Given the description of an element on the screen output the (x, y) to click on. 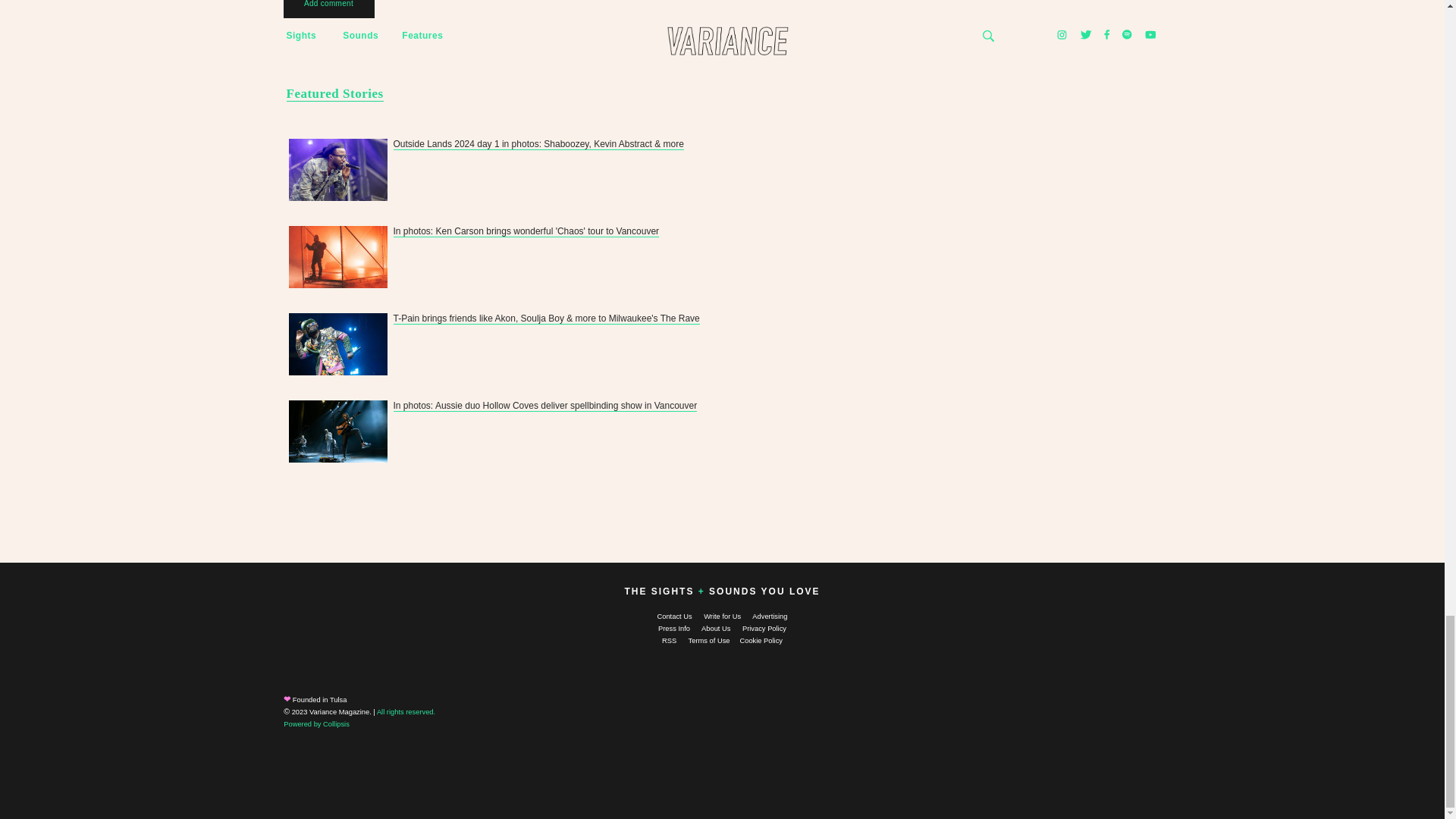
Add comment (328, 10)
